Given the description of an element on the screen output the (x, y) to click on. 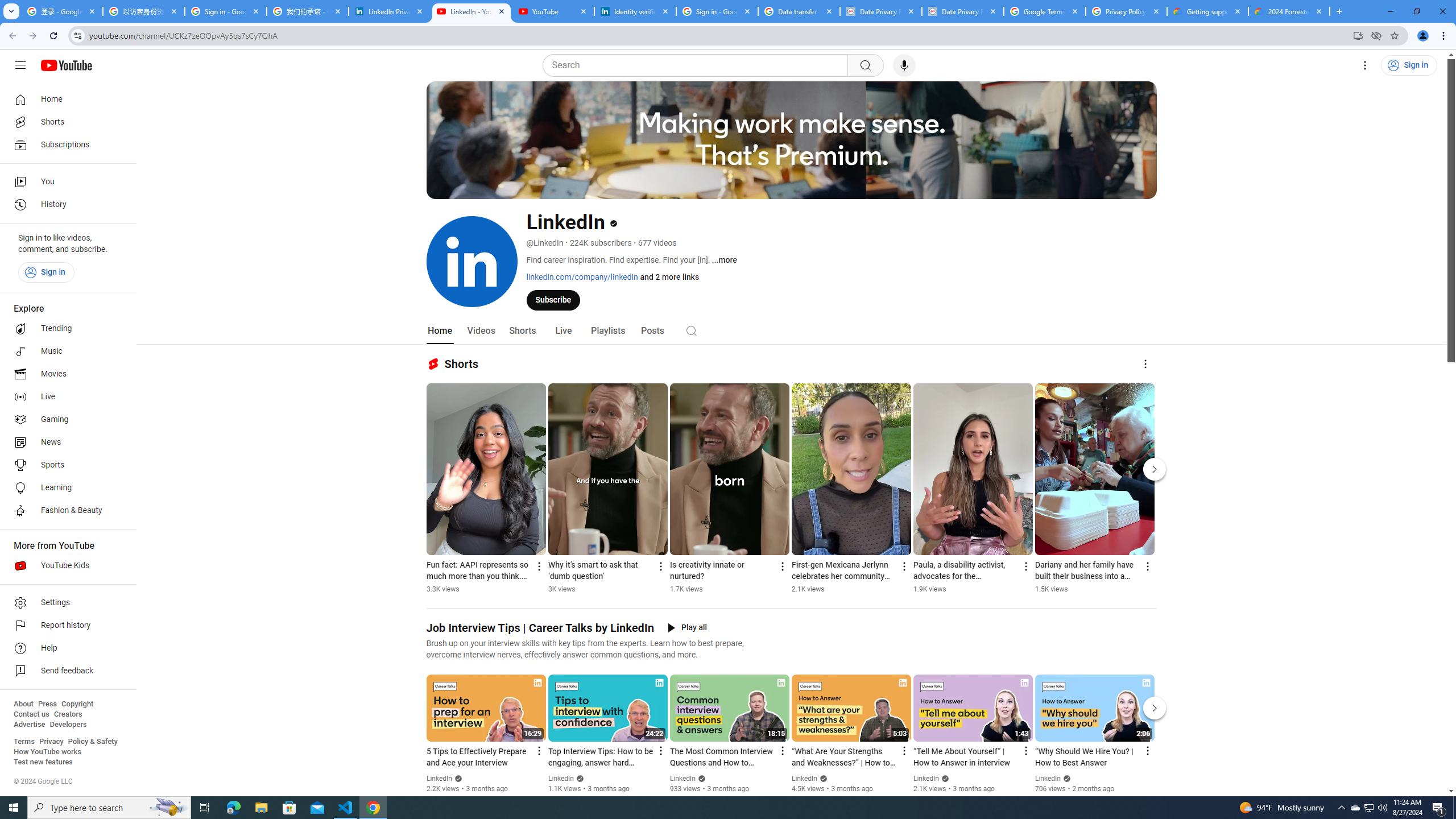
Install YouTube (1358, 35)
Chrome (1445, 35)
Gaming (64, 419)
Play all (687, 627)
Test new features (42, 761)
Minimize (1390, 11)
Home (440, 330)
